Given the description of an element on the screen output the (x, y) to click on. 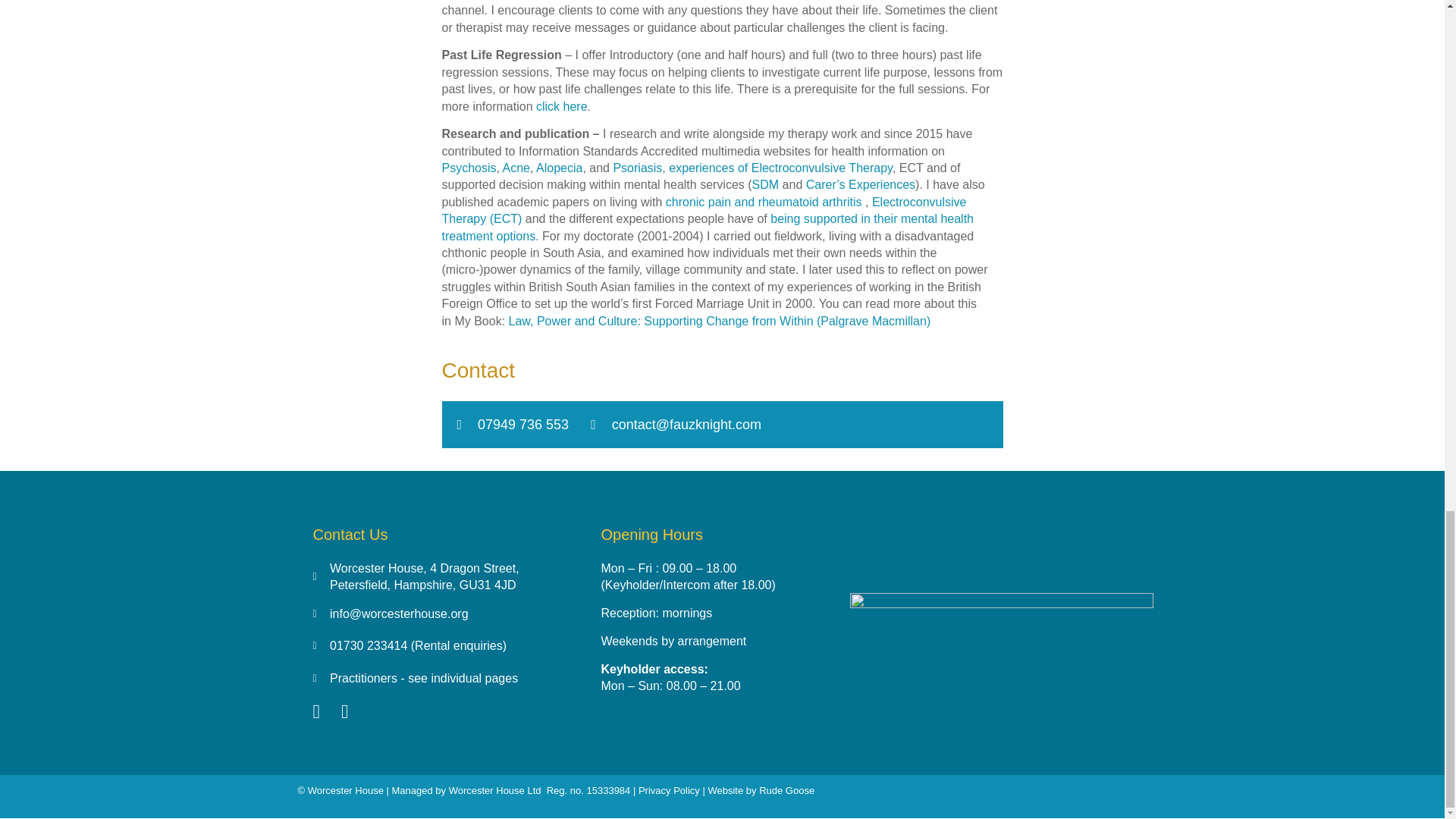
Acne (515, 167)
click here (561, 105)
Psychosis (468, 167)
being supported in their mental health treatment options (706, 226)
chronic pain and rheumatoid arthritis (763, 201)
Psoriasis (637, 167)
SDM (765, 184)
experiences of Electroconvulsive Therapy (780, 167)
Alopecia (558, 167)
